Given the description of an element on the screen output the (x, y) to click on. 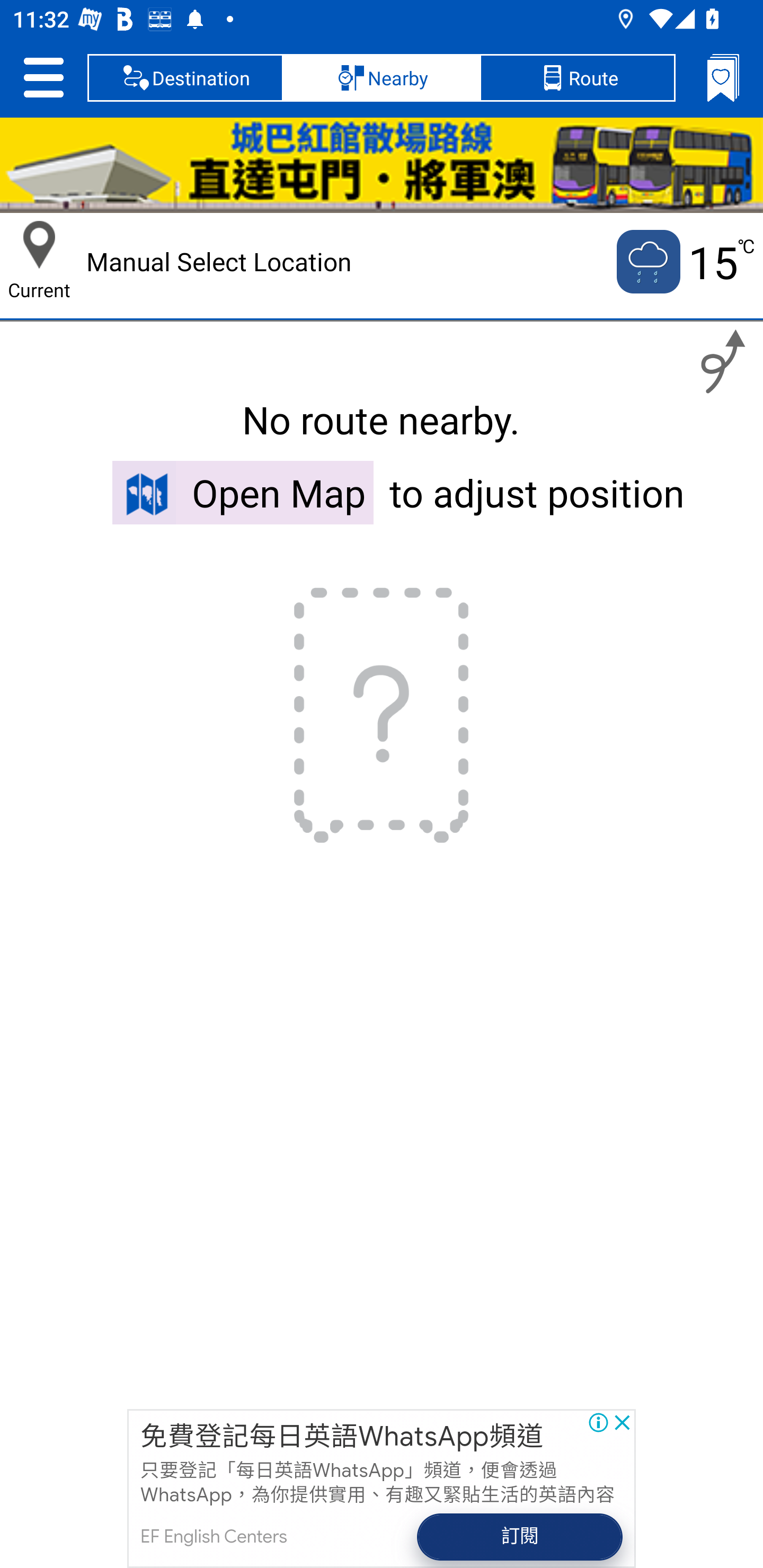
Destination (185, 77)
Nearby, selected (381, 77)
Route (577, 77)
Bookmarks (723, 77)
Setting (43, 77)
HKC (381, 165)
Current Location (38, 244)
Current temputure is  15  no 15 ℃ (684, 261)
Open Map (242, 491)
免費登記每日英語WhatsApp頻道 (342, 1436)
訂閱 (519, 1537)
EF English Centers (213, 1537)
